Given the description of an element on the screen output the (x, y) to click on. 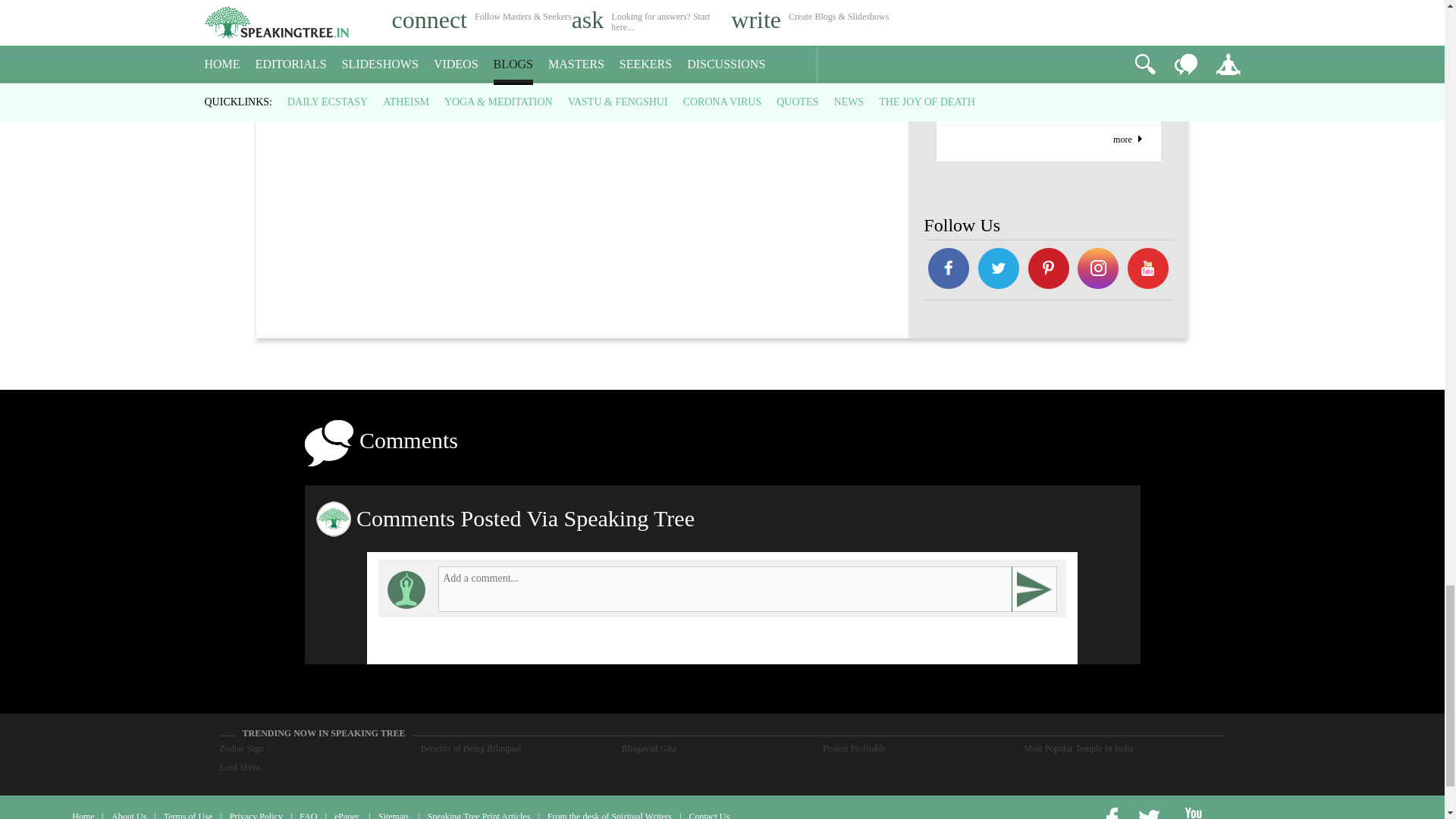
Speaking Tree FaceBook (1099, 270)
Speaking Tree FaceBook (1048, 270)
Speaking Tree FaceBook (1147, 270)
Speaking Tree FaceBook (998, 270)
Speaking Tree FaceBook (948, 270)
